Given the description of an element on the screen output the (x, y) to click on. 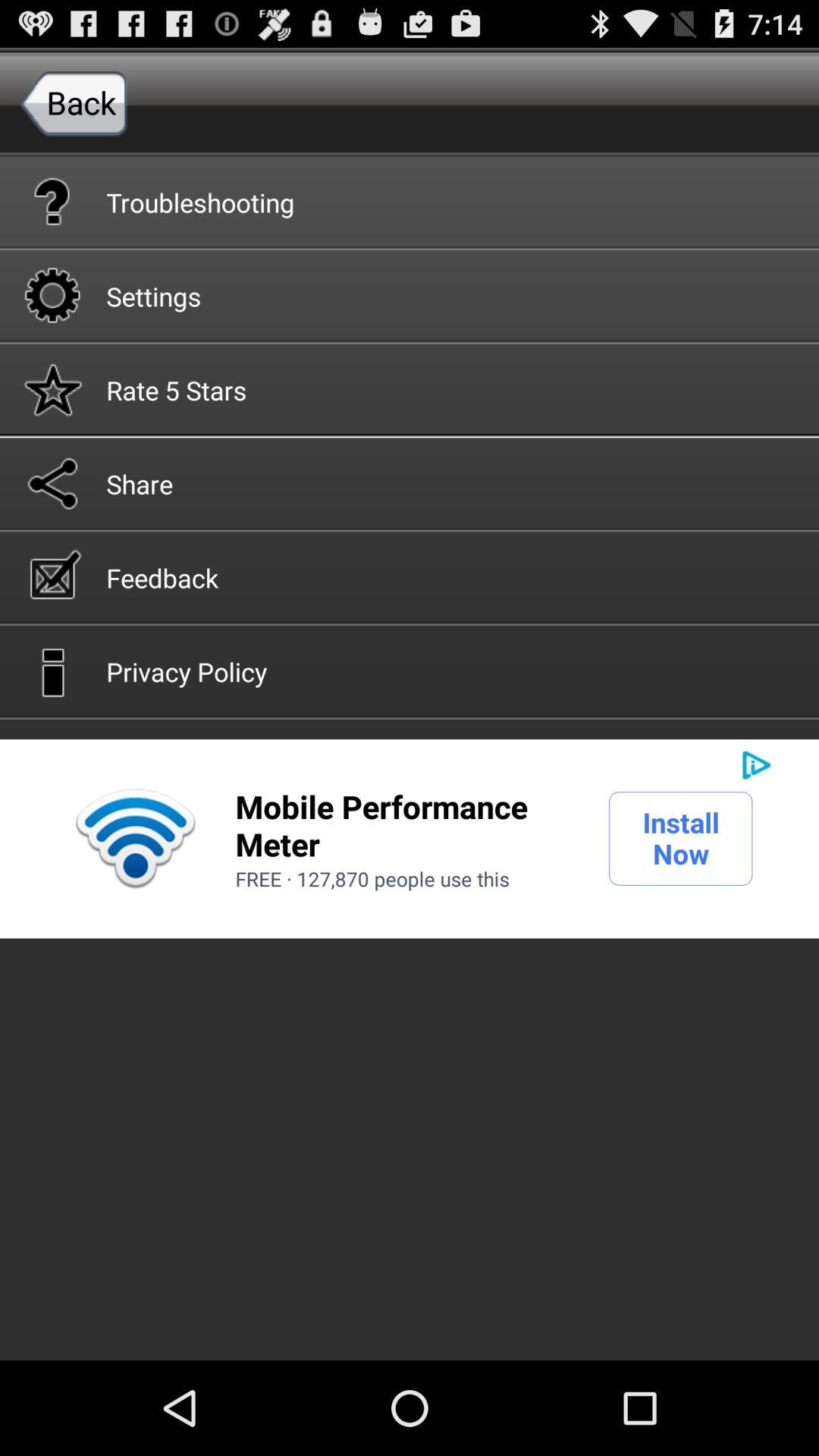
turn on the troubleshooting item (409, 201)
